Given the description of an element on the screen output the (x, y) to click on. 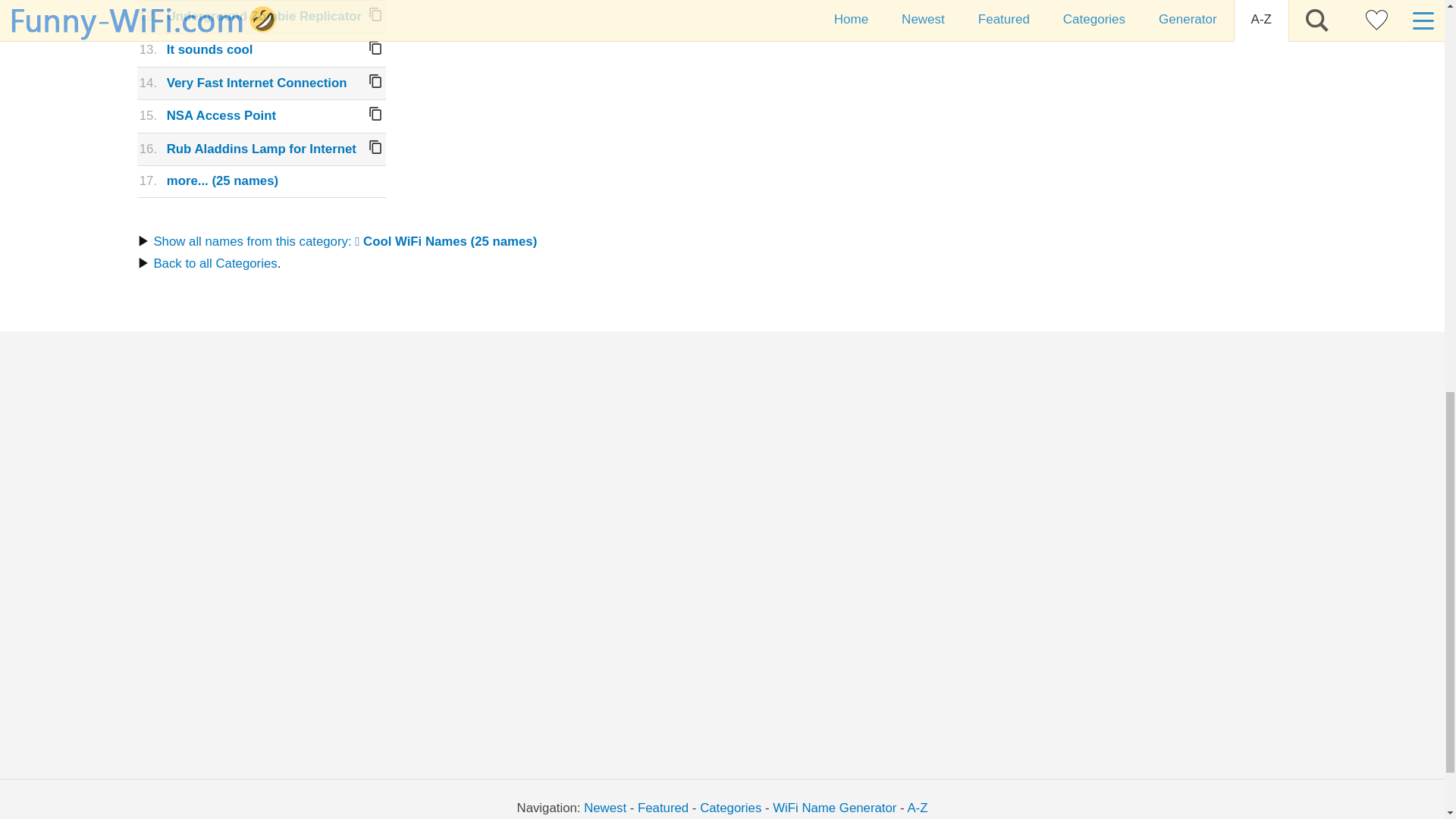
Featured (662, 807)
Newest (604, 807)
Underground Zombie Replicator (264, 16)
NSA Access Point (221, 115)
Very Fast Internet Connection (257, 83)
Rub Aladdins Lamp for Internet (261, 148)
Back to all Categories (214, 263)
It sounds cool (210, 49)
Copy name to Clipboard (374, 14)
Copy name to Clipboard (374, 47)
